Given the description of an element on the screen output the (x, y) to click on. 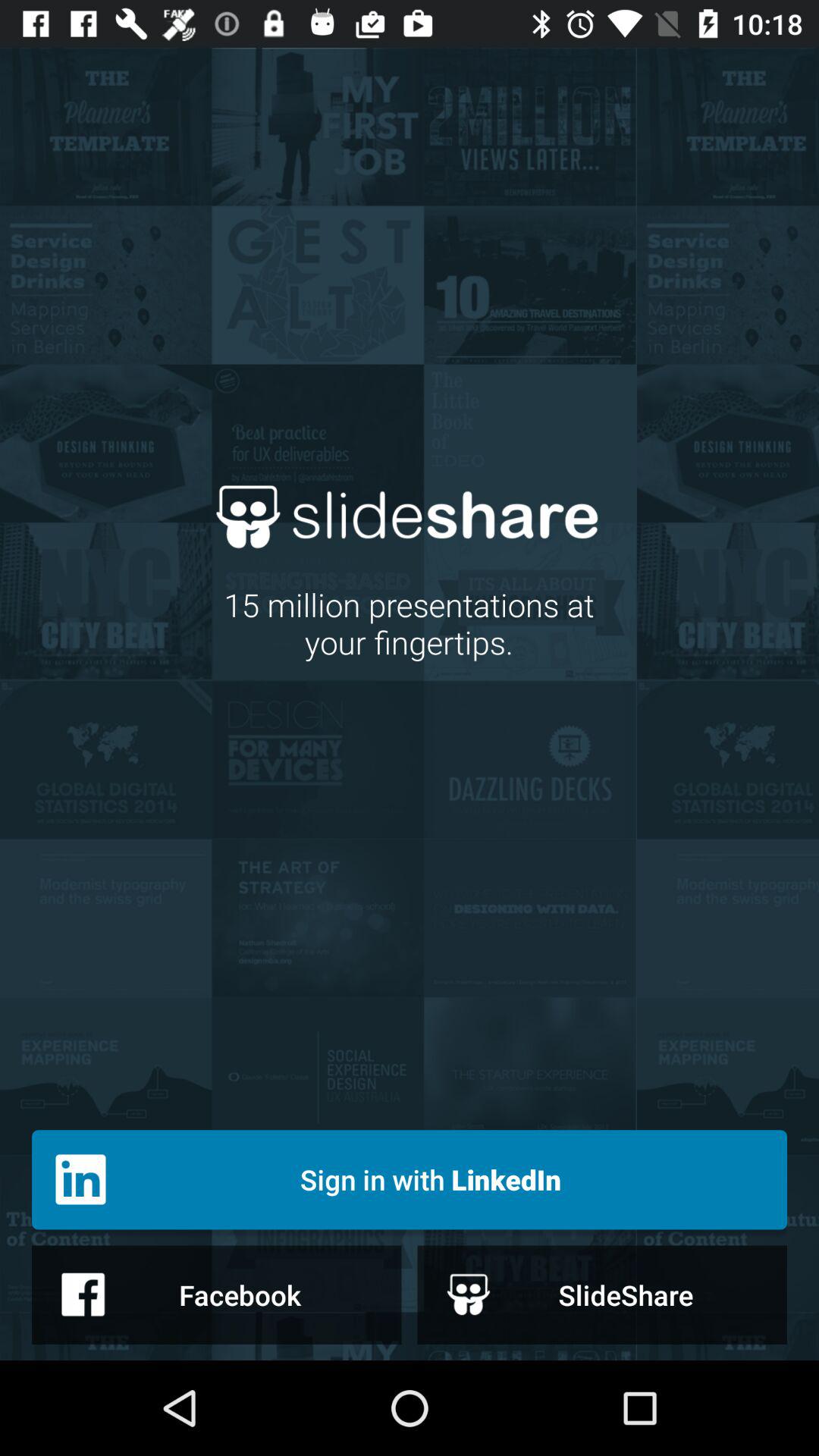
tap the icon next to the slideshare item (216, 1294)
